Given the description of an element on the screen output the (x, y) to click on. 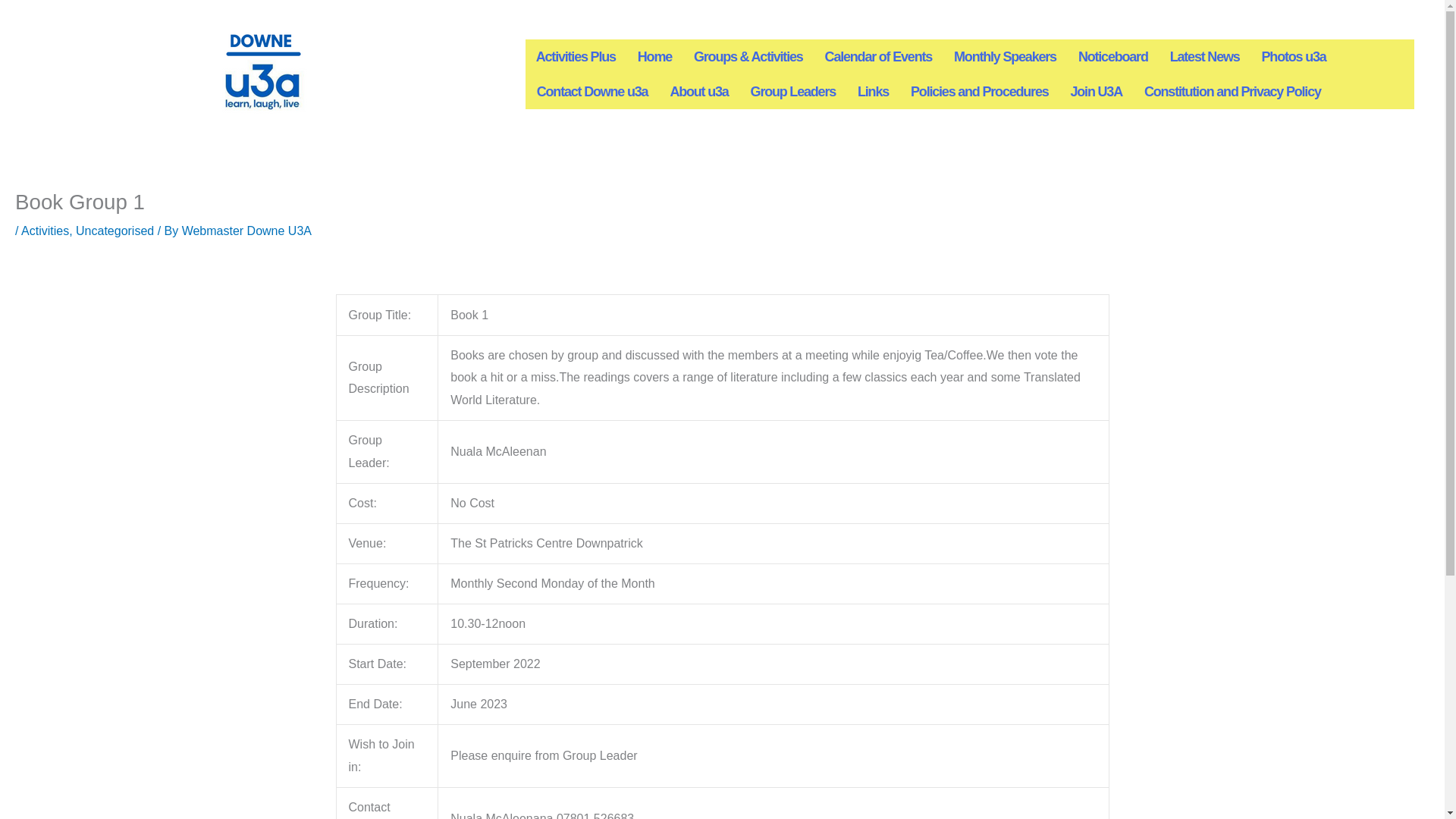
Latest News (1204, 56)
Uncategorised (114, 230)
Photos u3a (1293, 56)
Home (654, 56)
Links (873, 91)
Group Leaders (792, 91)
Constitution and Privacy Policy (1233, 91)
About u3a (698, 91)
Contact Downe u3a (592, 91)
Calendar of Events (877, 56)
View all posts by Webmaster Downe U3A (246, 230)
Monthly Speakers (1005, 56)
Webmaster Downe U3A (246, 230)
Activities Plus (575, 56)
Noticeboard (1112, 56)
